Given the description of an element on the screen output the (x, y) to click on. 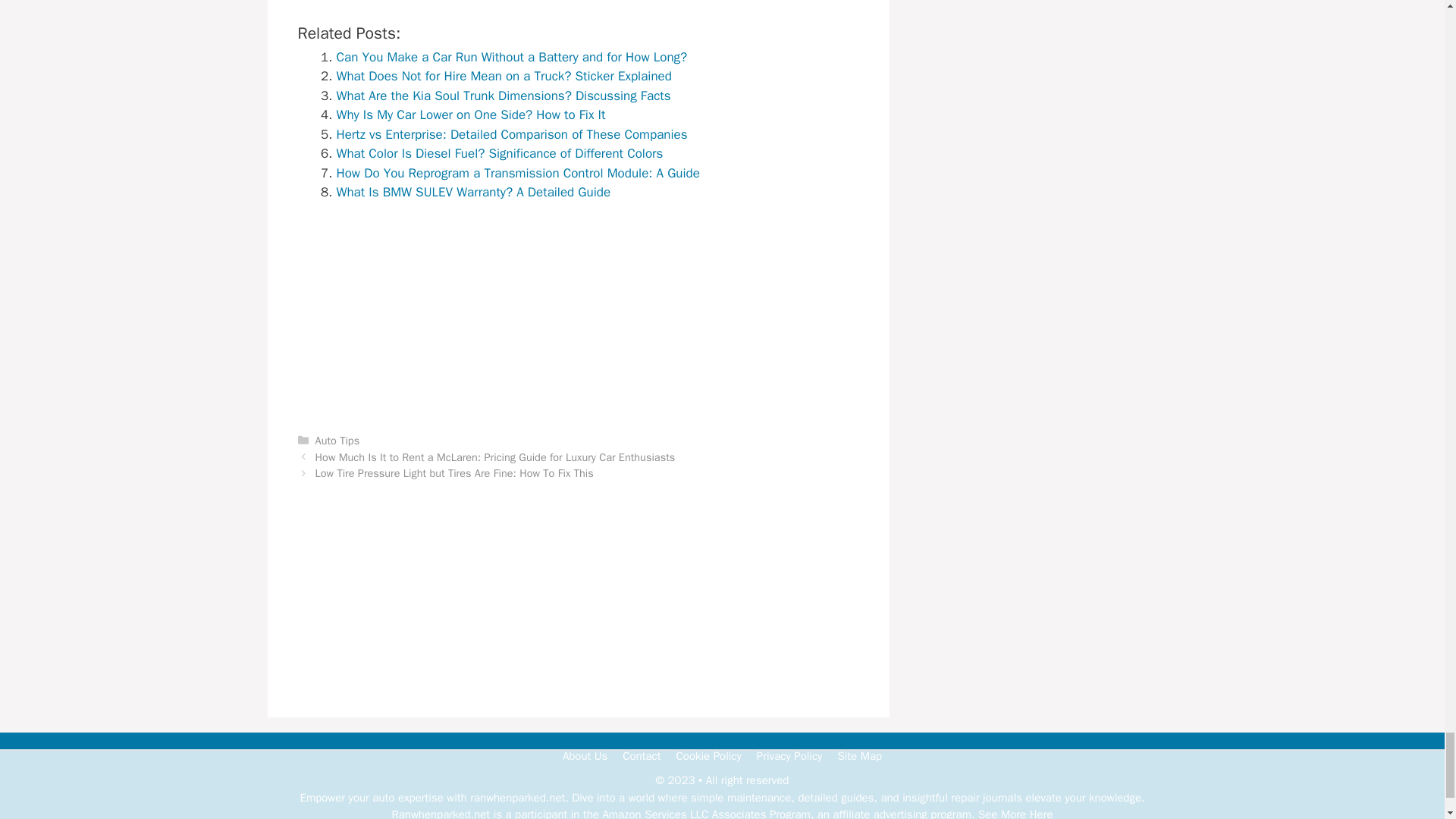
Why Is My Car Lower on One Side? How to Fix It (470, 114)
What Does Not for Hire Mean on a Truck? Sticker Explained (503, 75)
What Color Is Diesel Fuel? Significance of Different Colors (499, 153)
Can You Make a Car Run Without a Battery and for How Long? (511, 57)
How Do You Reprogram a Transmission Control Module: A Guide (518, 172)
Hertz vs Enterprise: Detailed Comparison of These Companies (511, 134)
What Is BMW SULEV Warranty? A Detailed Guide (473, 191)
What Are the Kia Soul Trunk Dimensions? Discussing Facts (503, 95)
